Given the description of an element on the screen output the (x, y) to click on. 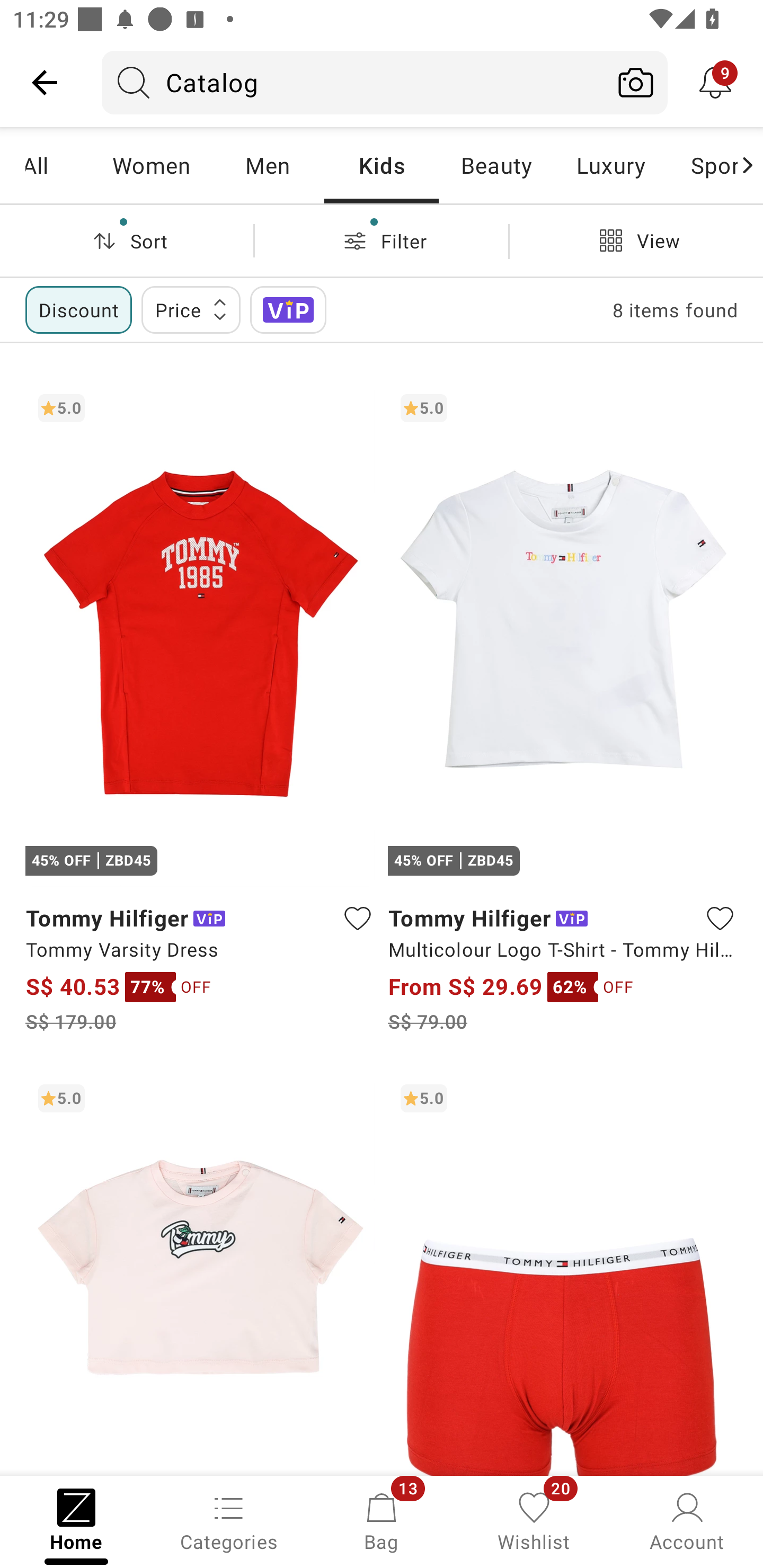
Navigate up (44, 82)
Catalog (352, 82)
All (59, 165)
Women (151, 165)
Men (266, 165)
Beauty (495, 165)
Luxury (610, 165)
Sort (126, 240)
Filter (381, 240)
View (636, 240)
Discount (78, 309)
Price (190, 309)
5.0 (200, 1272)
5.0 (562, 1272)
Categories (228, 1519)
Bag, 13 new notifications Bag (381, 1519)
Wishlist, 20 new notifications Wishlist (533, 1519)
Account (686, 1519)
